Given the description of an element on the screen output the (x, y) to click on. 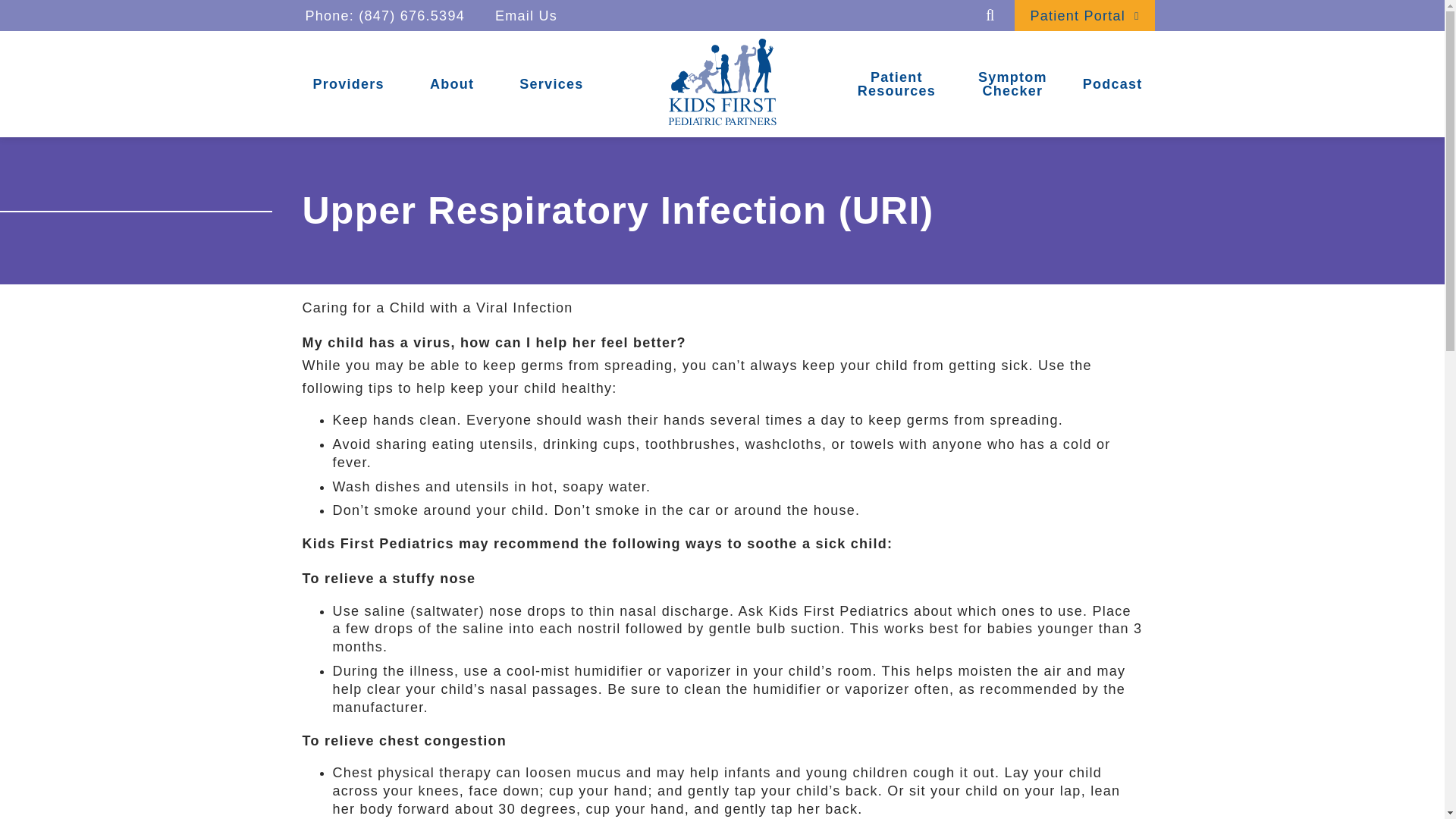
Providers (347, 84)
Email Us (526, 15)
About (451, 84)
Search (990, 15)
Patient Resources (896, 84)
Symptom Checker (1012, 84)
Services (550, 84)
Patient Portal (1084, 15)
Podcast (1112, 84)
